Given the description of an element on the screen output the (x, y) to click on. 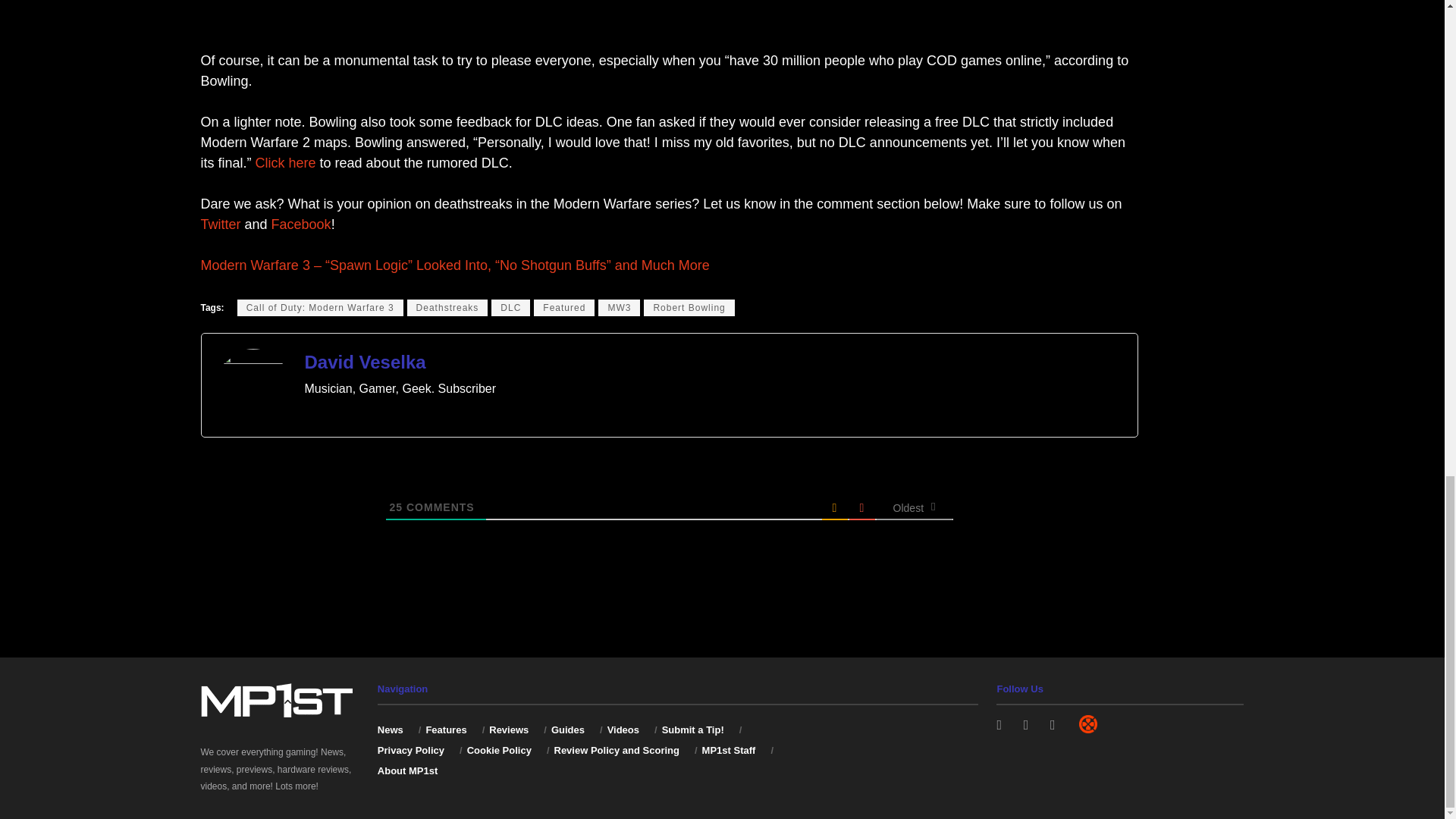
Call of Duty: Modern Warfare 3 (320, 307)
Twitter (220, 224)
Click here (285, 162)
Facebook (300, 224)
25 (396, 507)
